Given the description of an element on the screen output the (x, y) to click on. 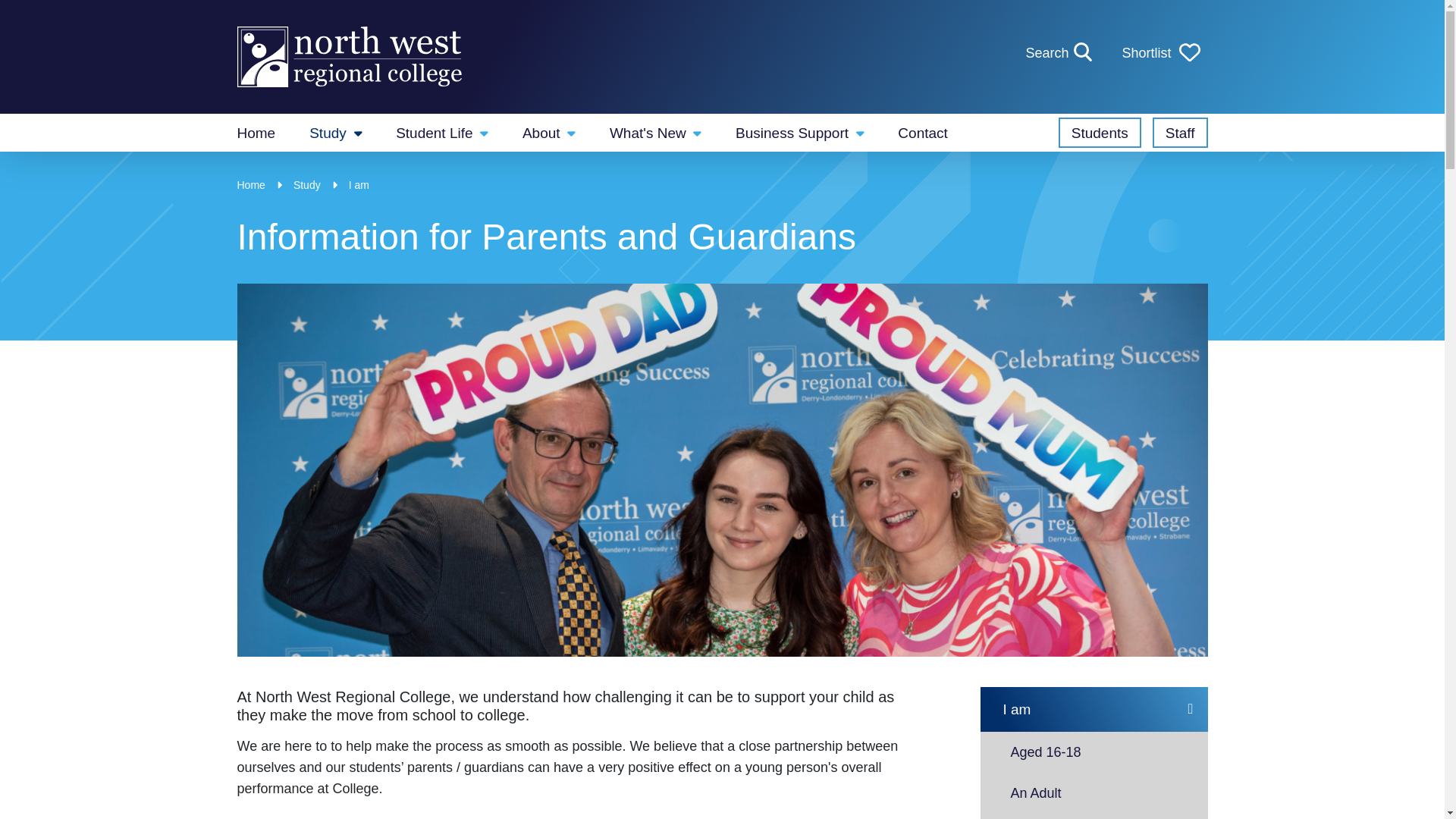
skip to main content (1059, 53)
Study (1160, 53)
Student Life (334, 132)
Home (441, 132)
